Given the description of an element on the screen output the (x, y) to click on. 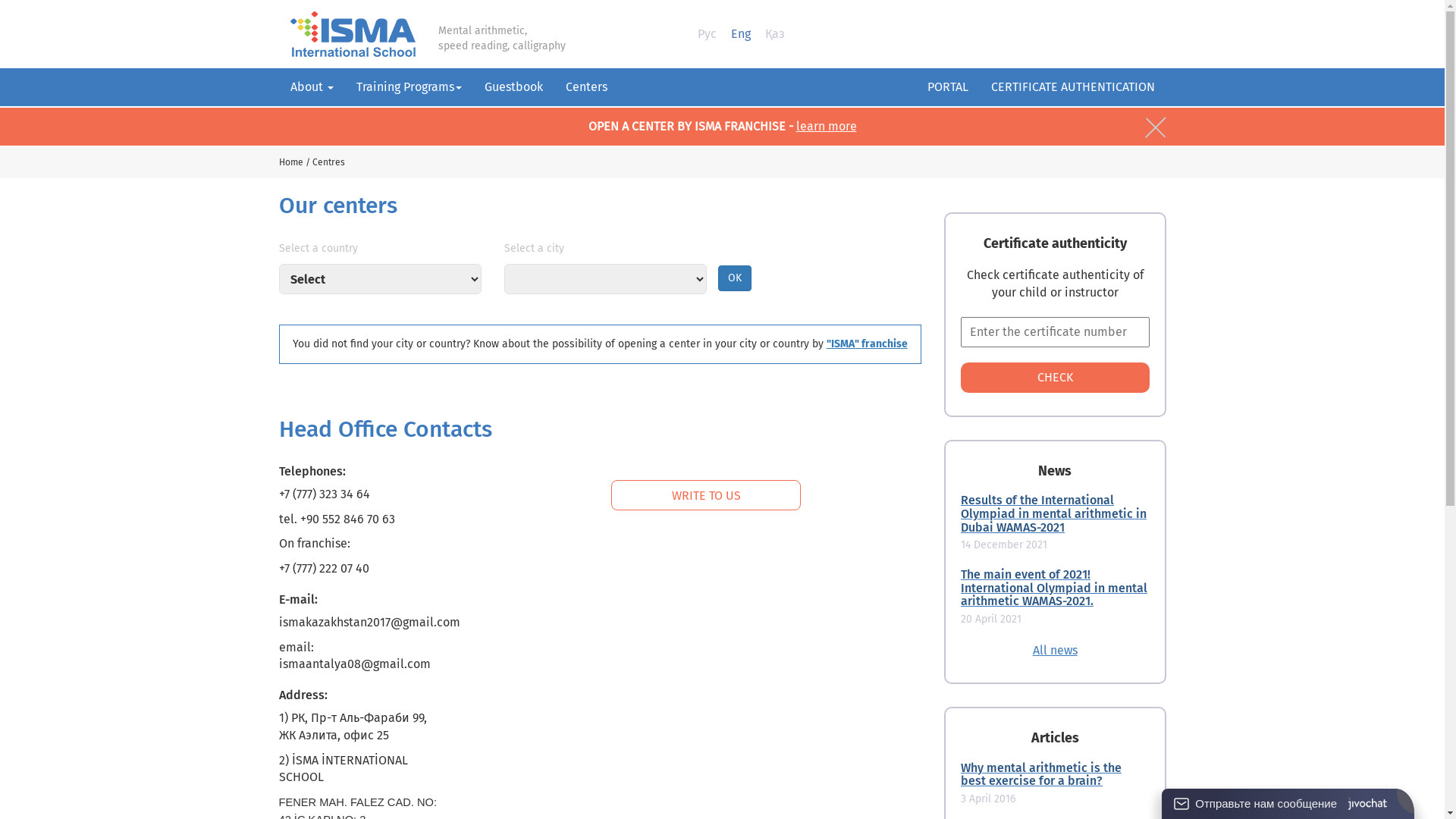
Home Element type: text (291, 161)
WRITE TO US Element type: text (705, 495)
+7 (777) 323 34 64 Element type: text (324, 493)
Training Programs Element type: text (408, 87)
CHECK Element type: text (1054, 377)
"ISMA" franchise Element type: text (866, 343)
All news Element type: text (1054, 650)
ismakazakhstan2017@gmail.com Element type: text (369, 622)
CERTIFICATE AUTHENTICATION Element type: text (1072, 87)
OK Element type: text (734, 278)
+7 (777) 222 07 40 Element type: text (324, 568)
About Element type: text (312, 87)
learn more Element type: text (826, 126)
Guestbook Element type: text (513, 87)
Centers Element type: text (585, 87)
Eng Element type: text (740, 33)
Why mental arithmetic is the best exercise for a brain? Element type: text (1054, 774)
PORTAL Element type: text (947, 87)
